Given the description of an element on the screen output the (x, y) to click on. 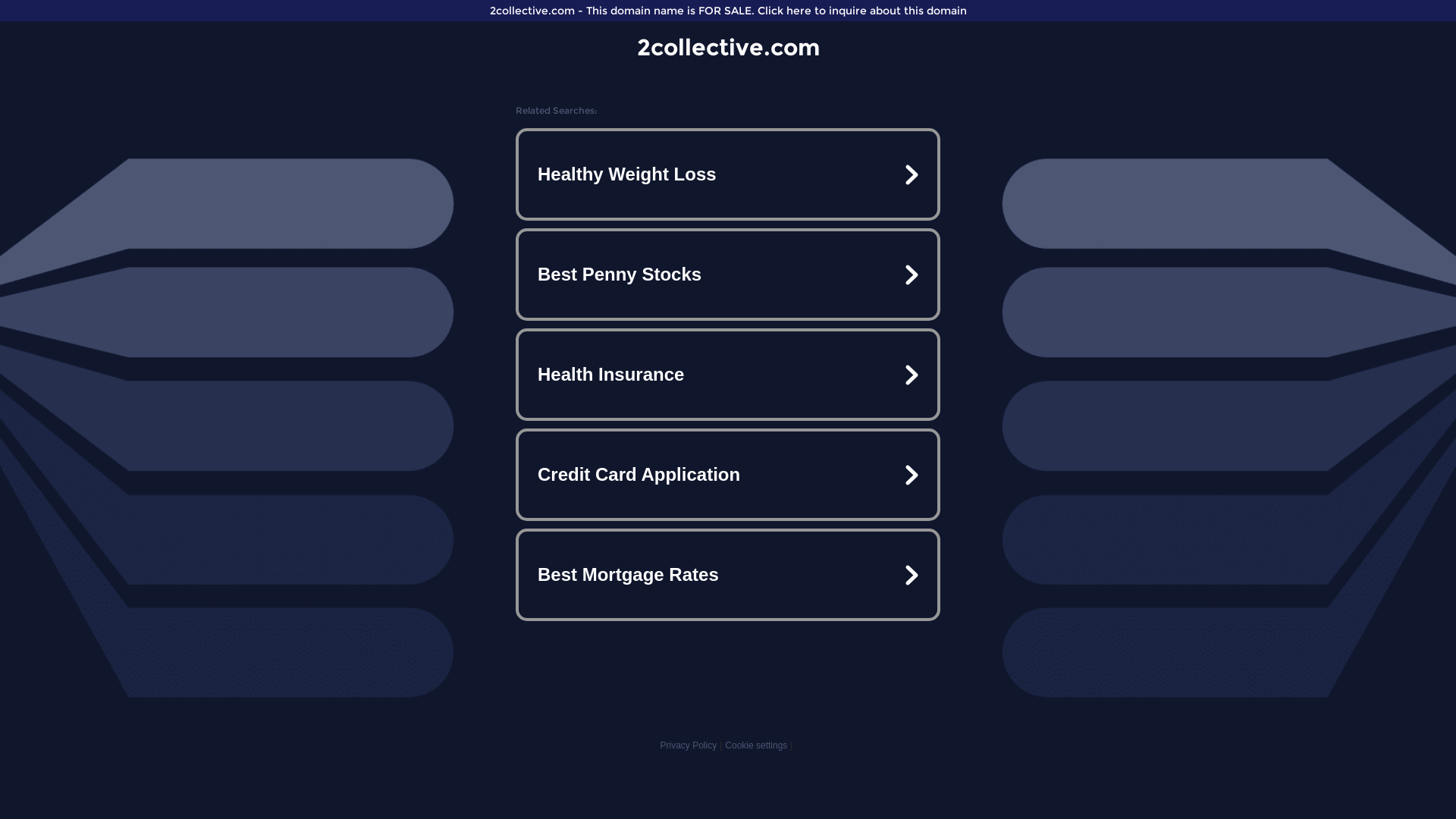
Credit Card Application Element type: text (727, 474)
2collective.com Element type: text (728, 47)
Cookie settings Element type: text (755, 745)
Health Insurance Element type: text (727, 374)
Best Mortgage Rates Element type: text (727, 574)
Best Penny Stocks Element type: text (727, 274)
Privacy Policy Element type: text (687, 745)
Healthy Weight Loss Element type: text (727, 174)
